Given the description of an element on the screen output the (x, y) to click on. 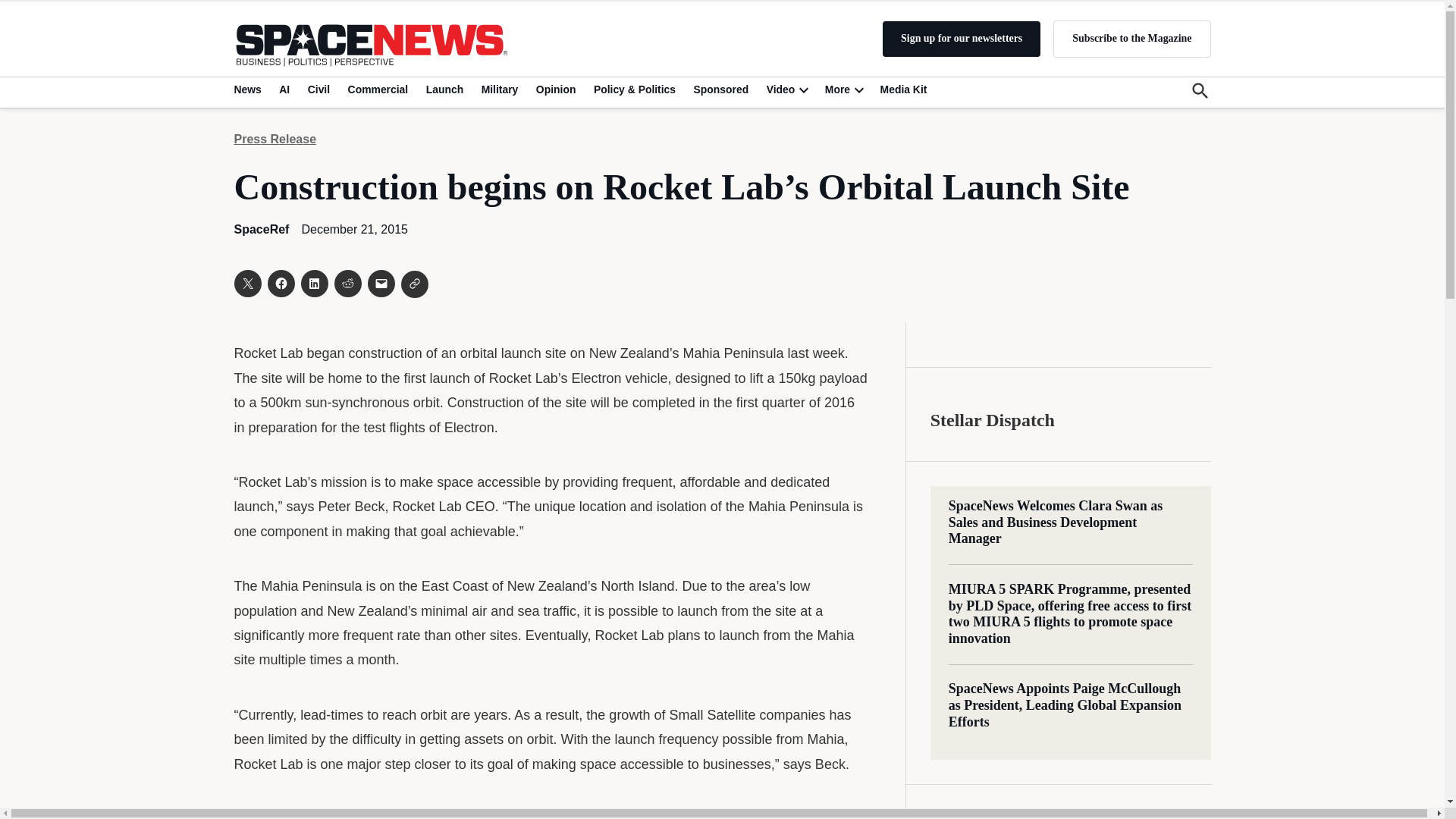
Click to share on LinkedIn (313, 283)
AI (284, 89)
Click to share on Clipboard (414, 284)
Click to share on Reddit (347, 283)
Subscribe to the Magazine (1130, 38)
News (249, 89)
Click to share on X (246, 283)
Click to email a link to a friend (380, 283)
Civil (318, 89)
Click to share on Facebook (280, 283)
Sign up for our newsletters (961, 38)
